Given the description of an element on the screen output the (x, y) to click on. 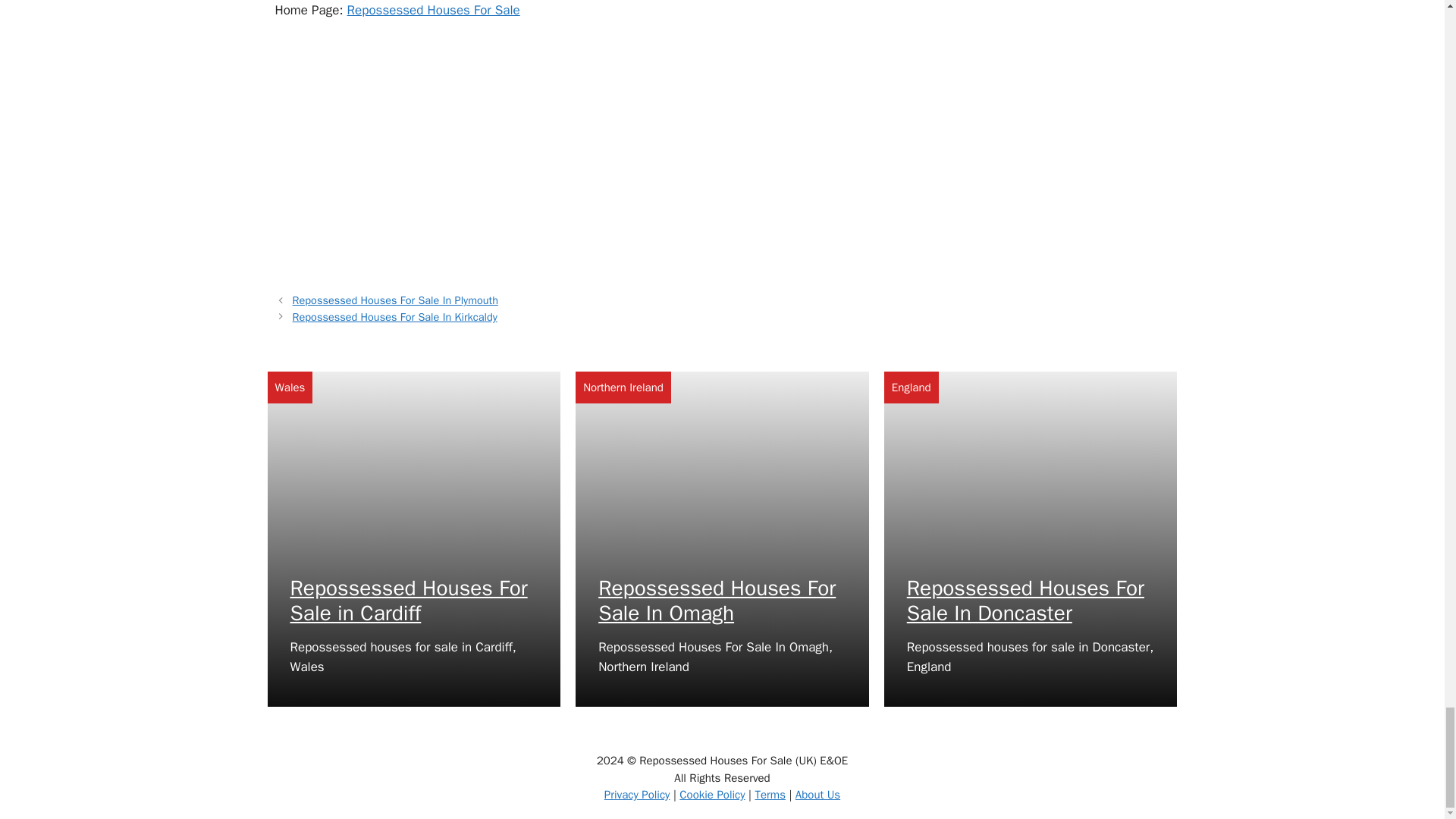
Repossessed Houses For Sale in Cardiff (408, 600)
Cookie Policy (711, 794)
Privacy Policy (636, 794)
Repossessed Houses For Sale In Plymouth (394, 300)
Repossessed Houses For Sale In Omagh (716, 600)
Repossessed Houses For Sale (433, 10)
Repossessed Houses For Sale In Doncaster (1025, 600)
Terms (769, 794)
About Us (817, 794)
Repossessed Houses For Sale In Kirkcaldy (394, 316)
